Given the description of an element on the screen output the (x, y) to click on. 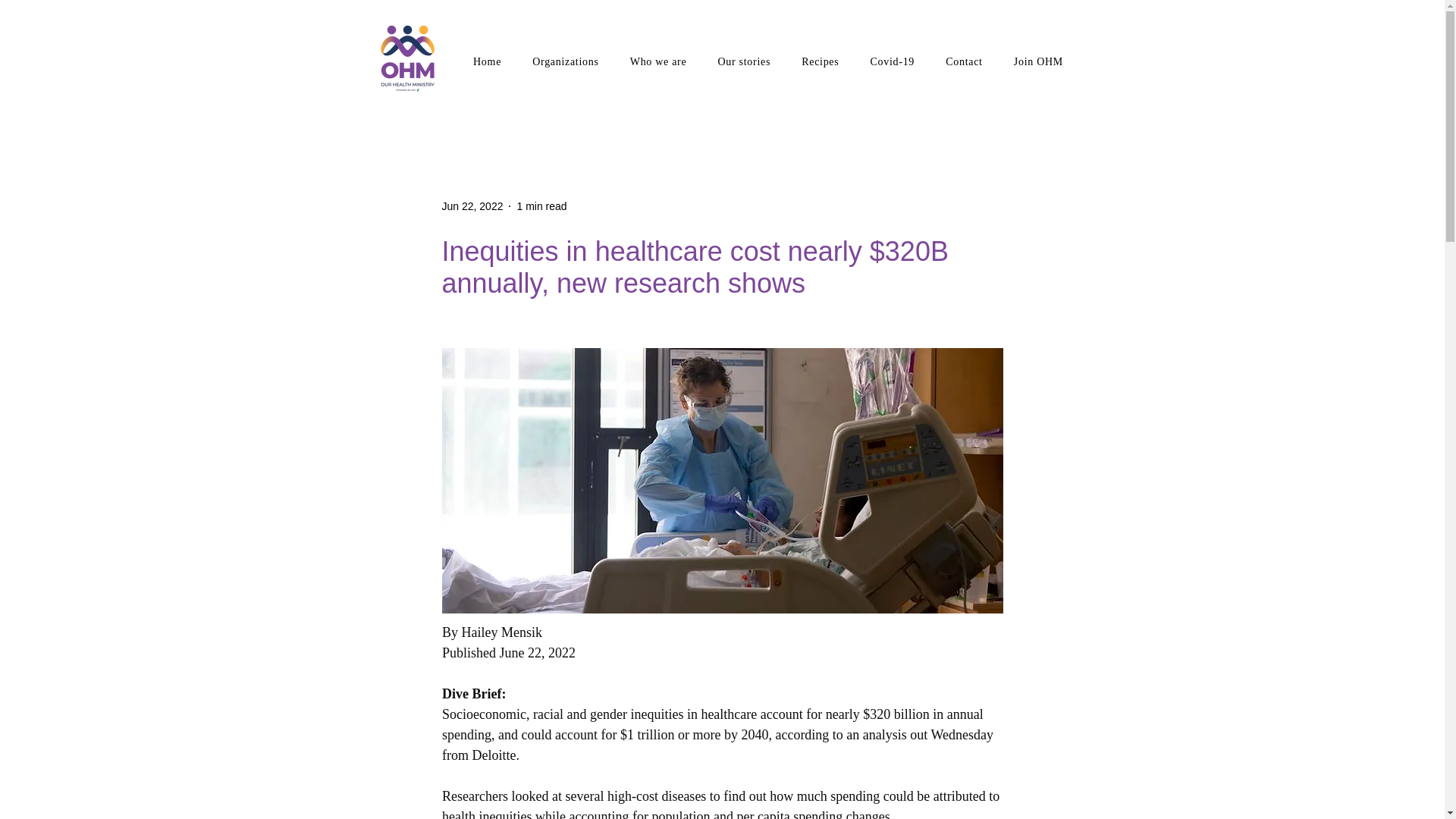
1 min read (541, 205)
Our stories (743, 62)
Join OHM (1038, 62)
Organizations (565, 62)
Jun 22, 2022 (471, 205)
Contact (964, 62)
Who we are (657, 62)
Home (487, 62)
Recipes (820, 62)
Covid-19 (892, 62)
